Given the description of an element on the screen output the (x, y) to click on. 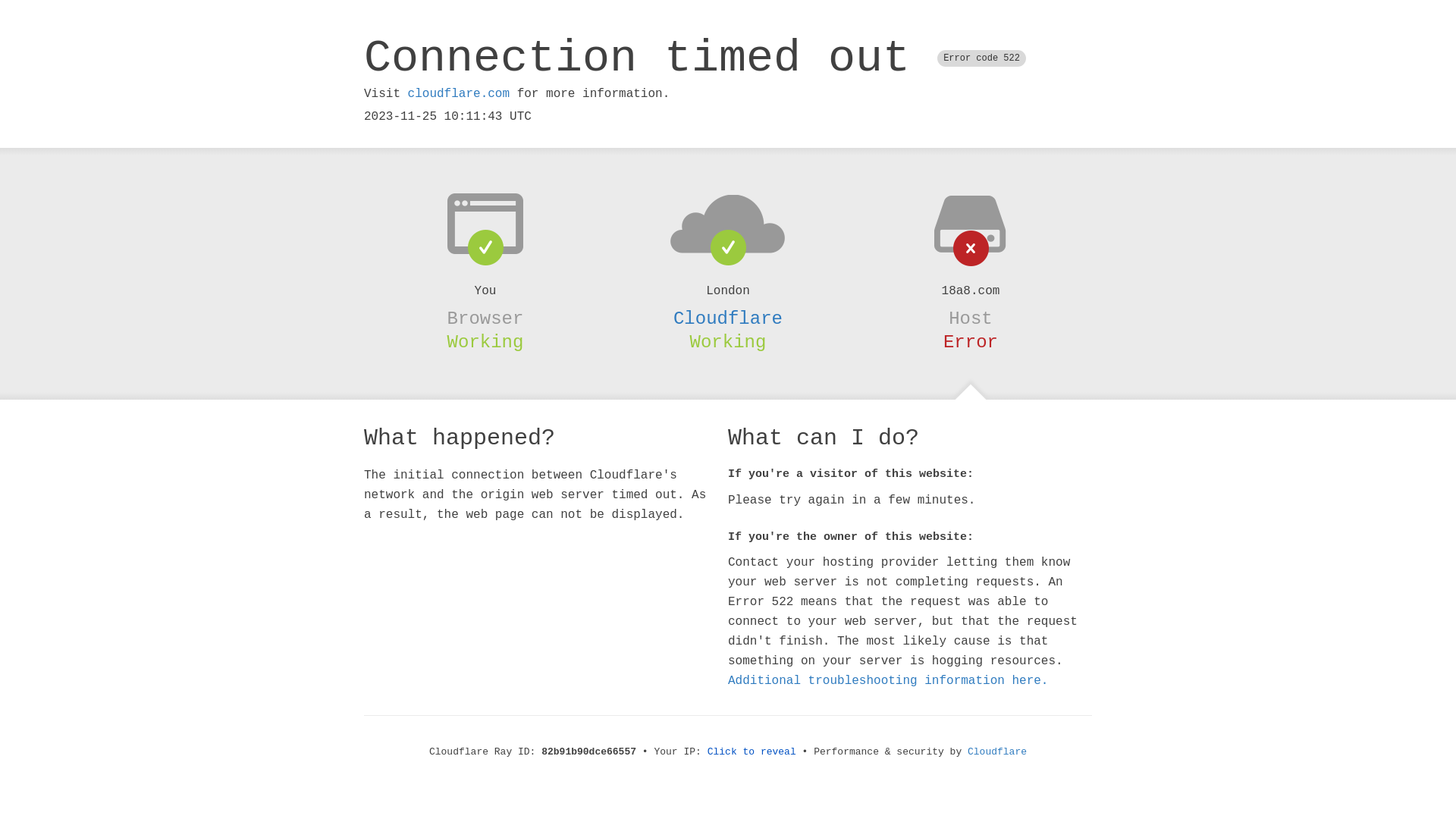
Click to reveal Element type: text (751, 751)
Cloudflare Element type: text (727, 318)
Cloudflare Element type: text (996, 751)
cloudflare.com Element type: text (458, 93)
Additional troubleshooting information here. Element type: text (888, 680)
